Given the description of an element on the screen output the (x, y) to click on. 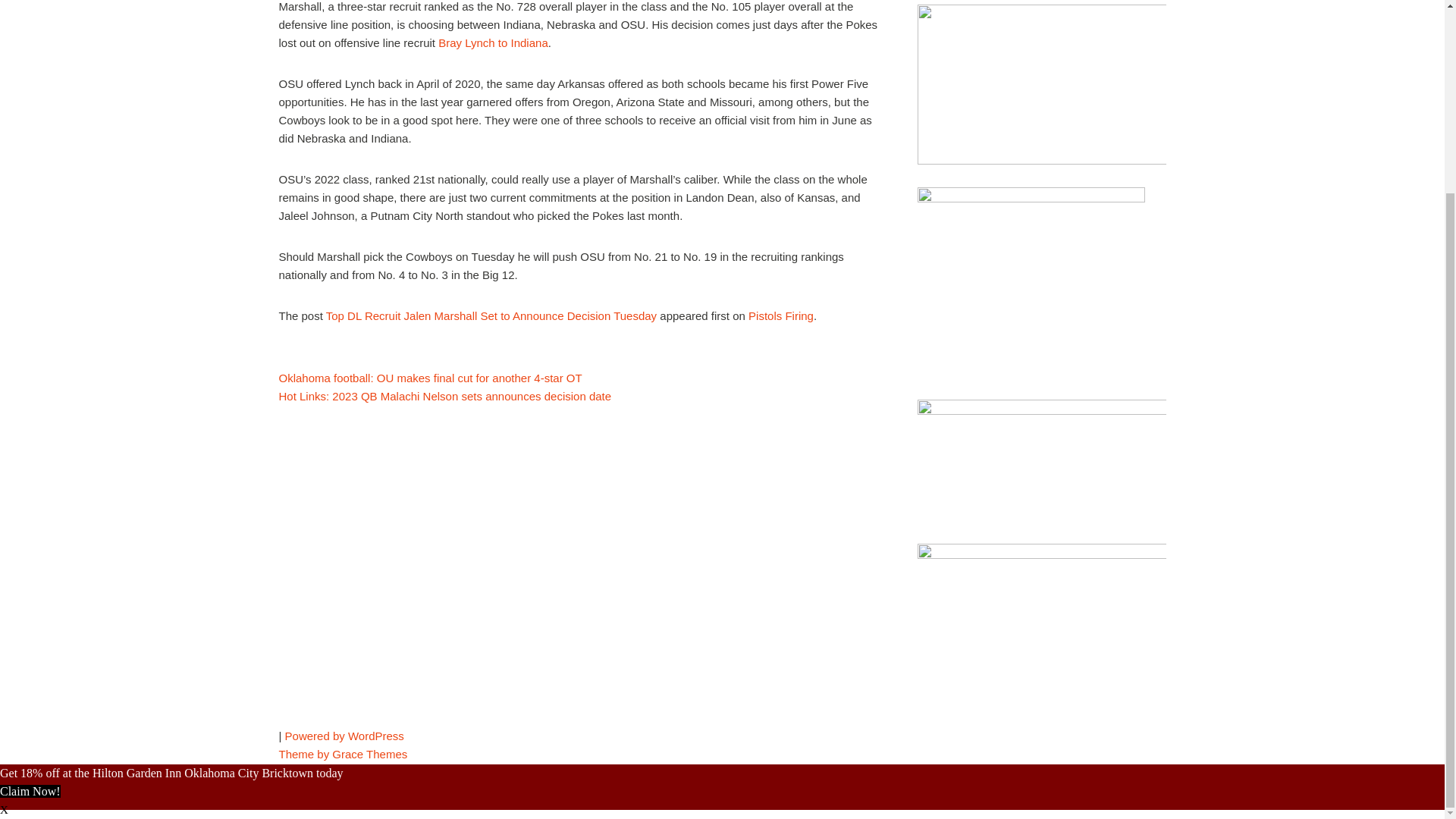
Pistols Firing (780, 315)
Bray Lynch to Indiana (493, 42)
Powered by WordPress (344, 735)
Theme by Grace Themes (343, 753)
Oklahoma football: OU makes final cut for another 4-star OT (430, 377)
Claim Now! (30, 790)
